Given the description of an element on the screen output the (x, y) to click on. 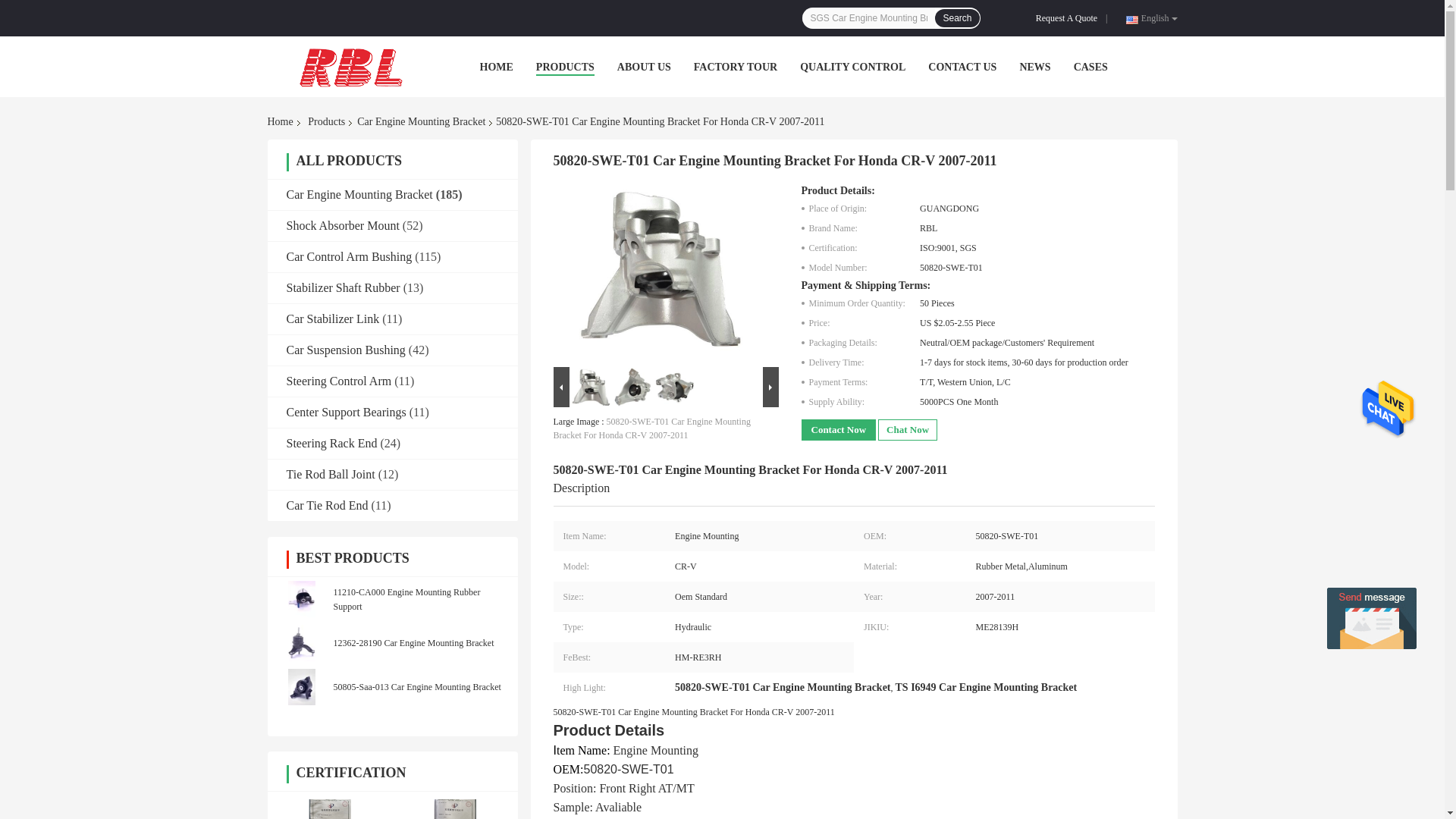
FACTORY TOUR (735, 66)
Quote (1069, 18)
Tie Rod Ball Joint (330, 473)
Car Tie Rod End (327, 504)
ABOUT US (644, 66)
Center Support Bearings (346, 411)
CONTACT US (961, 66)
Car Suspension Bushing (346, 349)
PRODUCTS (564, 66)
Car Engine Mounting Bracket (421, 121)
Home (282, 121)
QUALITY CONTROL (852, 66)
12362-28190 Car Engine Mounting Bracket (414, 643)
Stabilizer Shaft Rubber (343, 287)
11210-CA000 Engine Mounting Rubber Support (406, 599)
